Given the description of an element on the screen output the (x, y) to click on. 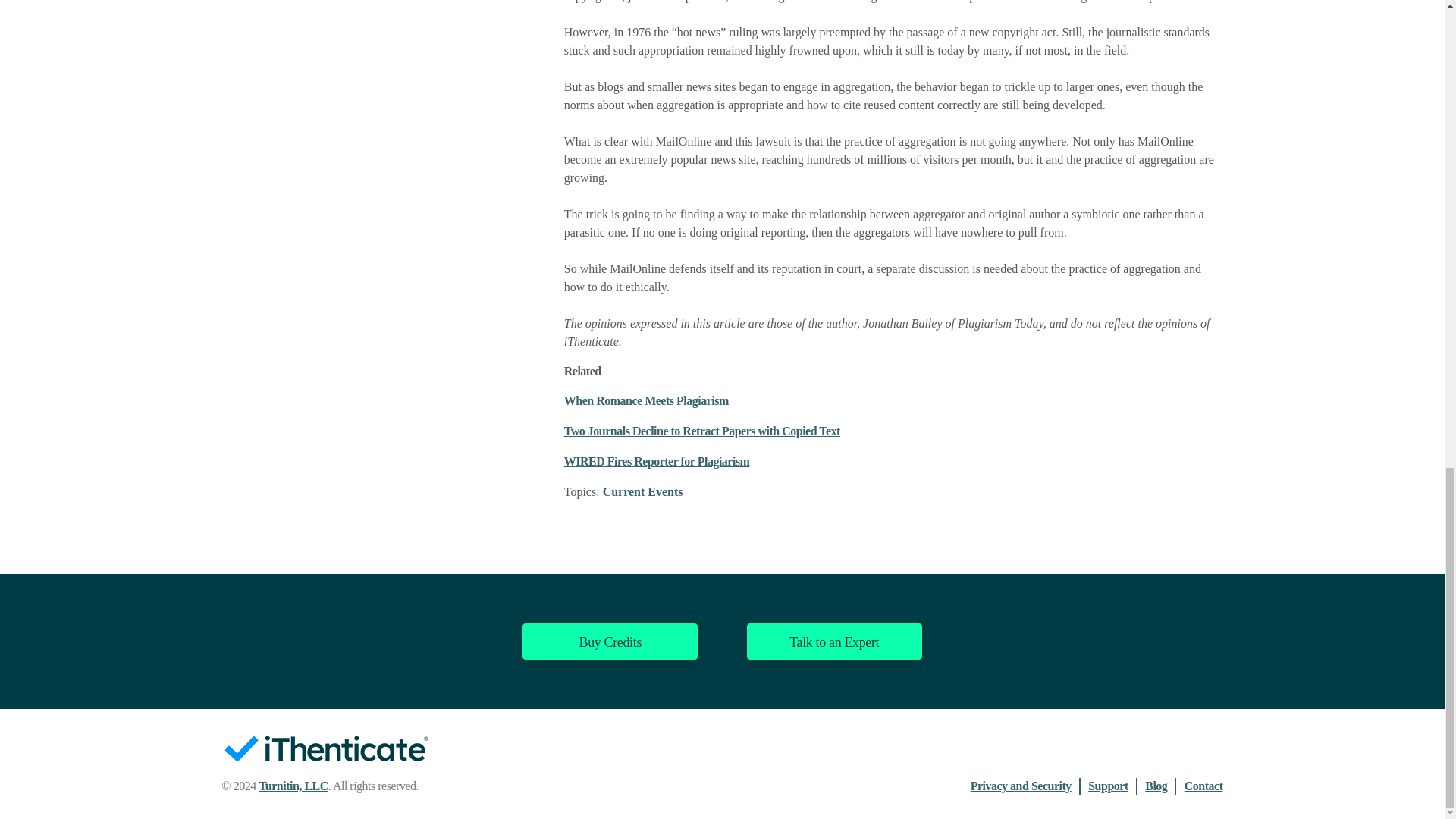
WIRED Fires Reporter for Plagiarism (656, 461)
Two Journals Decline to Retract Papers with Copied Text (702, 431)
When Romance Meets Plagiarism (646, 400)
